Given the description of an element on the screen output the (x, y) to click on. 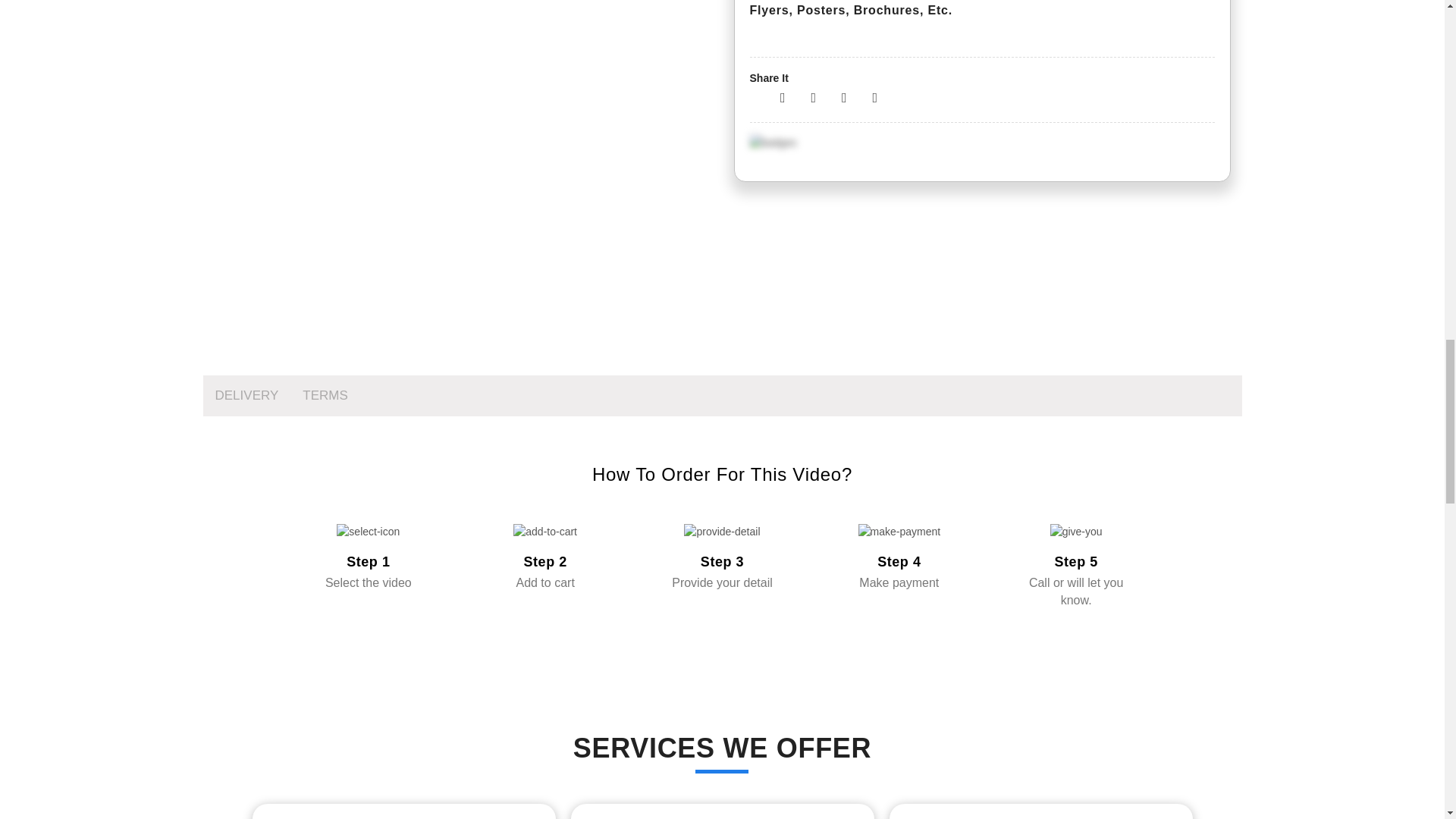
TERMS (324, 395)
DELIVERY (247, 395)
YouTube video player (462, 95)
